Given the description of an element on the screen output the (x, y) to click on. 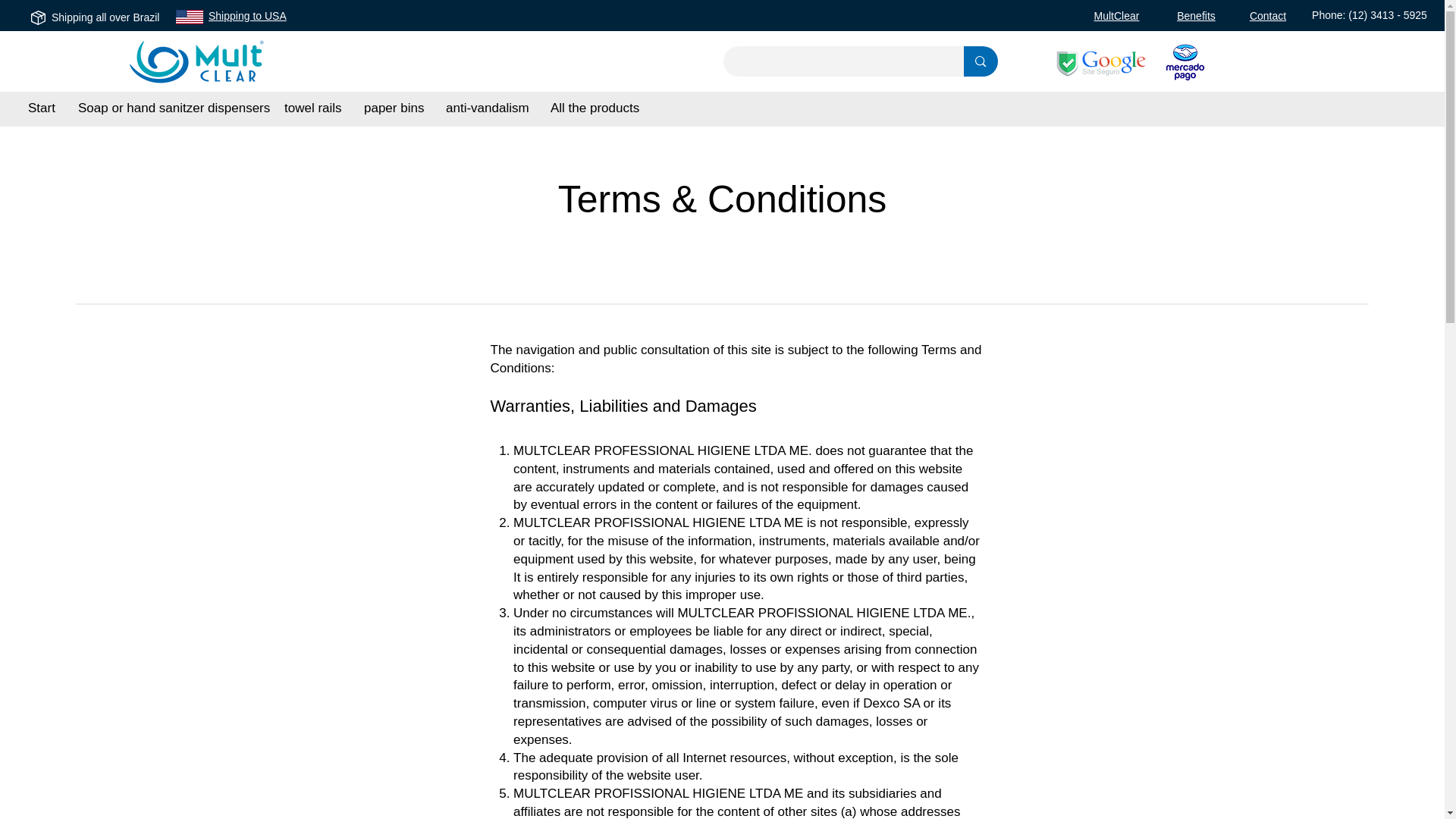
Shipping to USA (247, 15)
MultClear (1117, 15)
Benefits (1195, 15)
All the products (594, 108)
towel rails (312, 108)
anti-vandalism (485, 108)
Soap or hand sanitzer dispensers (169, 108)
paper bins (392, 108)
Start (41, 108)
Contact (1267, 15)
